Given the description of an element on the screen output the (x, y) to click on. 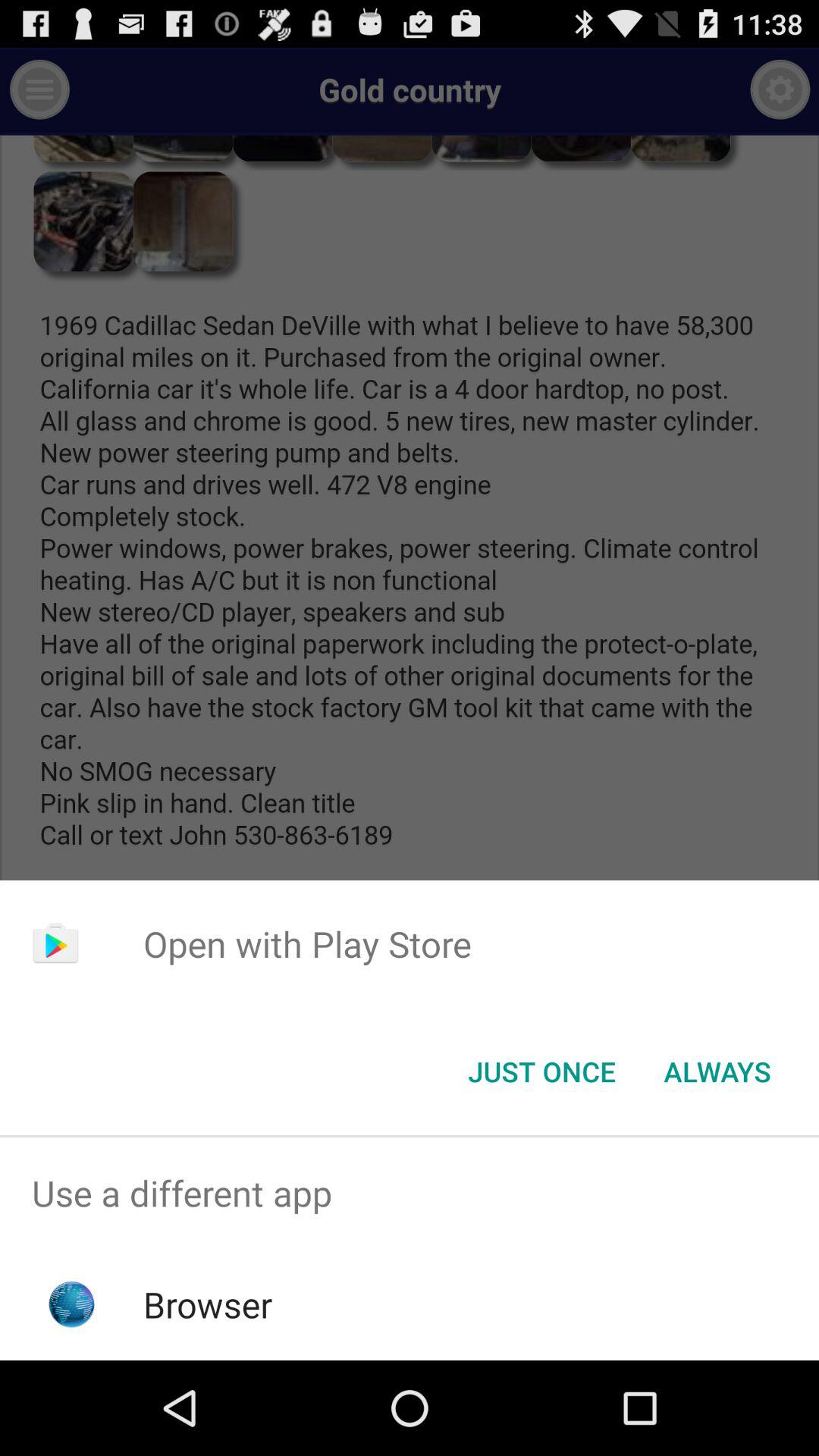
select just once icon (541, 1071)
